Given the description of an element on the screen output the (x, y) to click on. 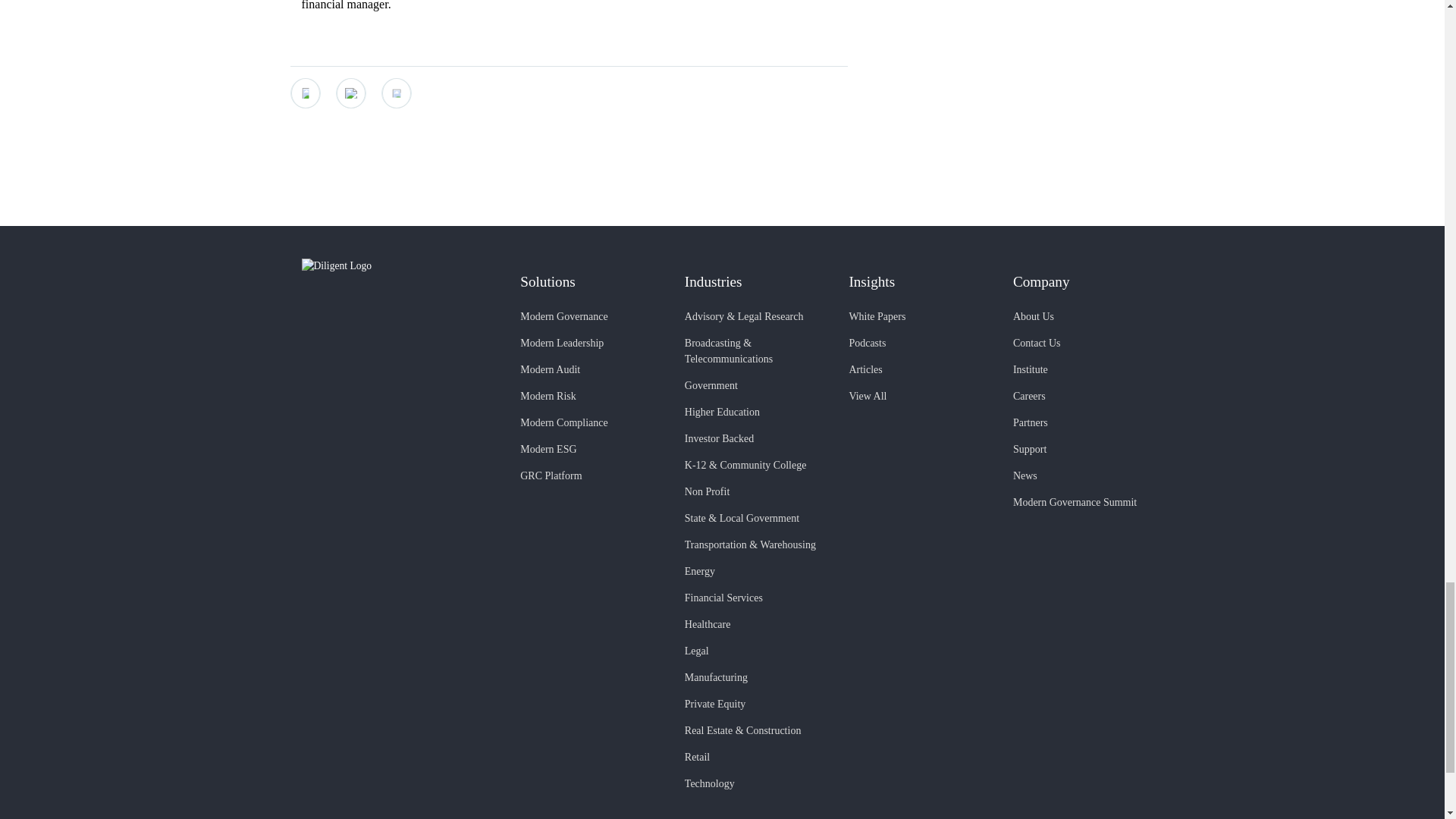
FooterLogo (399, 265)
